Given the description of an element on the screen output the (x, y) to click on. 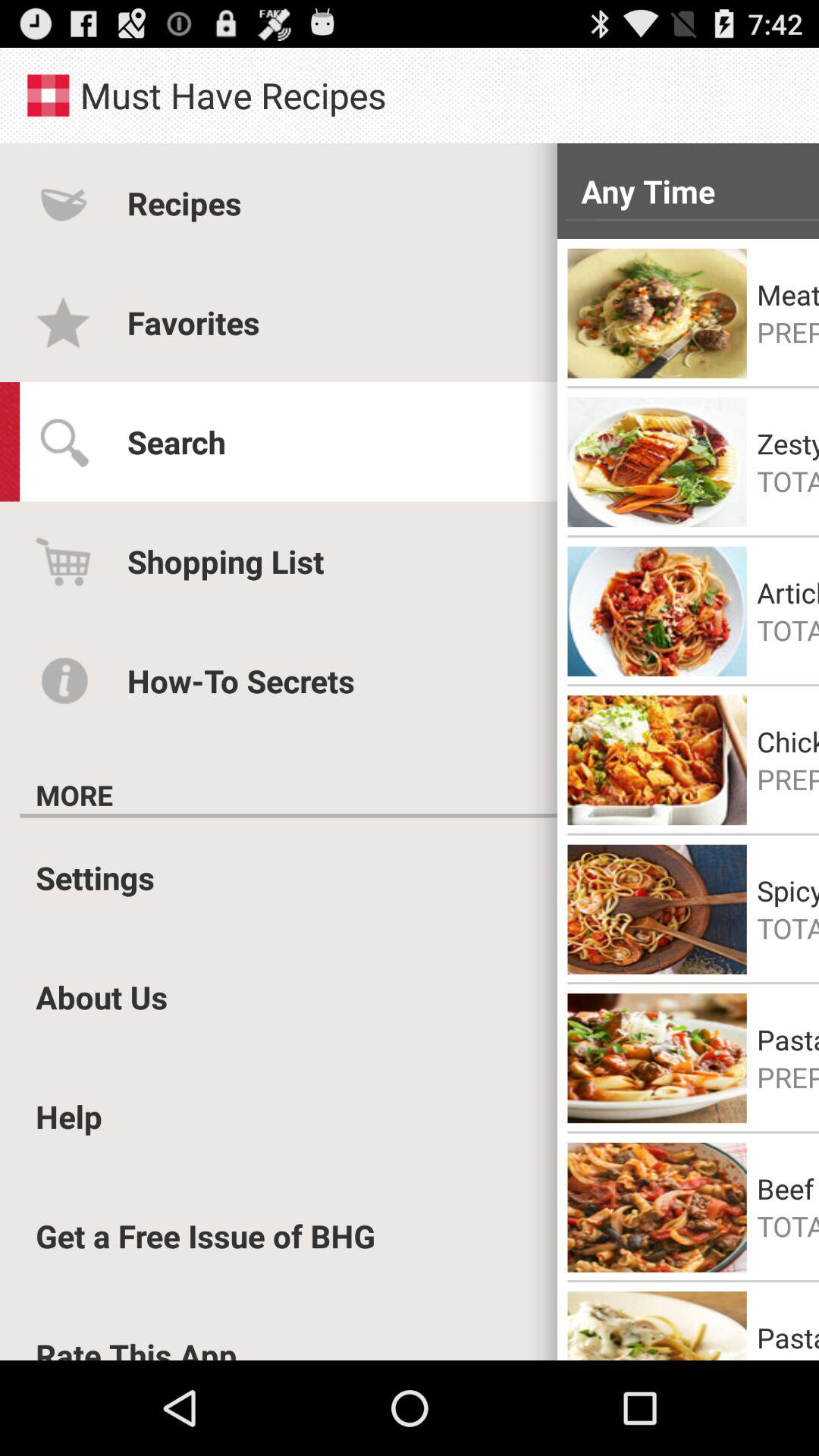
select the item above help item (101, 996)
